Given the description of an element on the screen output the (x, y) to click on. 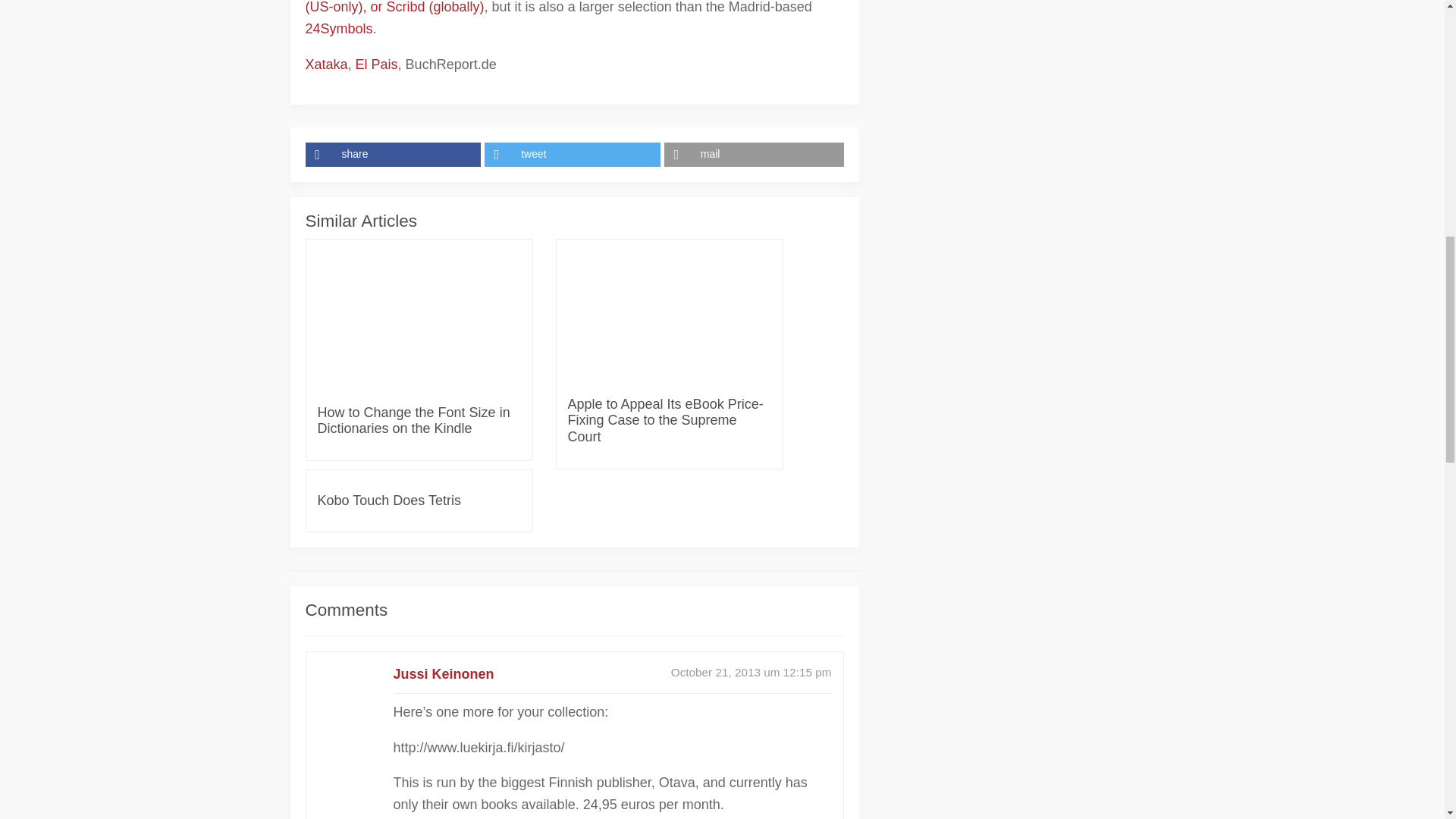
24Symbols (338, 28)
How to Change the Font Size in Dictionaries on the Kindle (418, 420)
tweet (573, 154)
El Pais (376, 64)
Kobo Touch Does Tetris (388, 501)
mail (753, 154)
How to Change the Font Size in Dictionaries on the Kindle (418, 420)
